Given the description of an element on the screen output the (x, y) to click on. 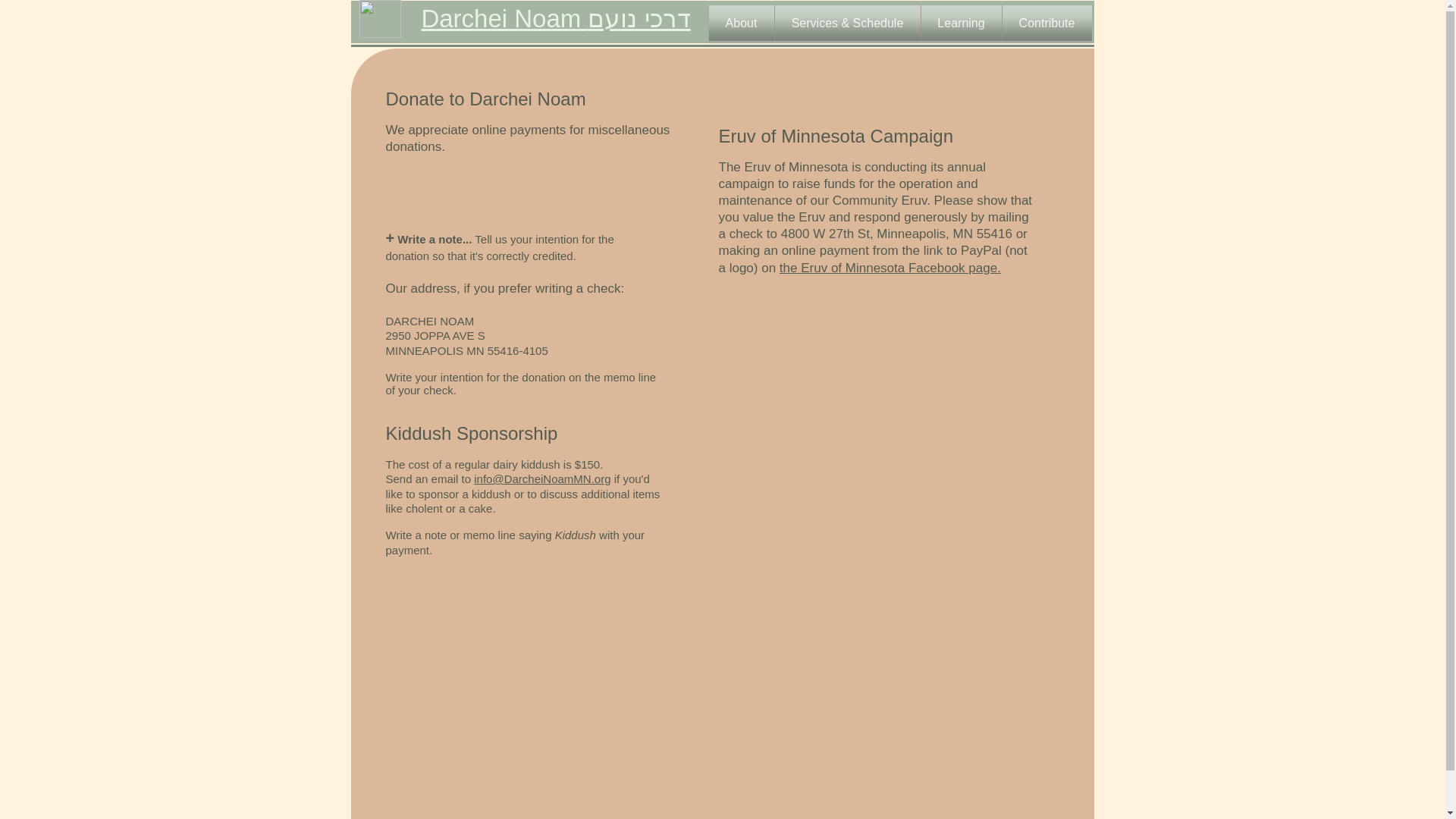
the Eruv of Minnesota Facebook page. (889, 268)
